Given the description of an element on the screen output the (x, y) to click on. 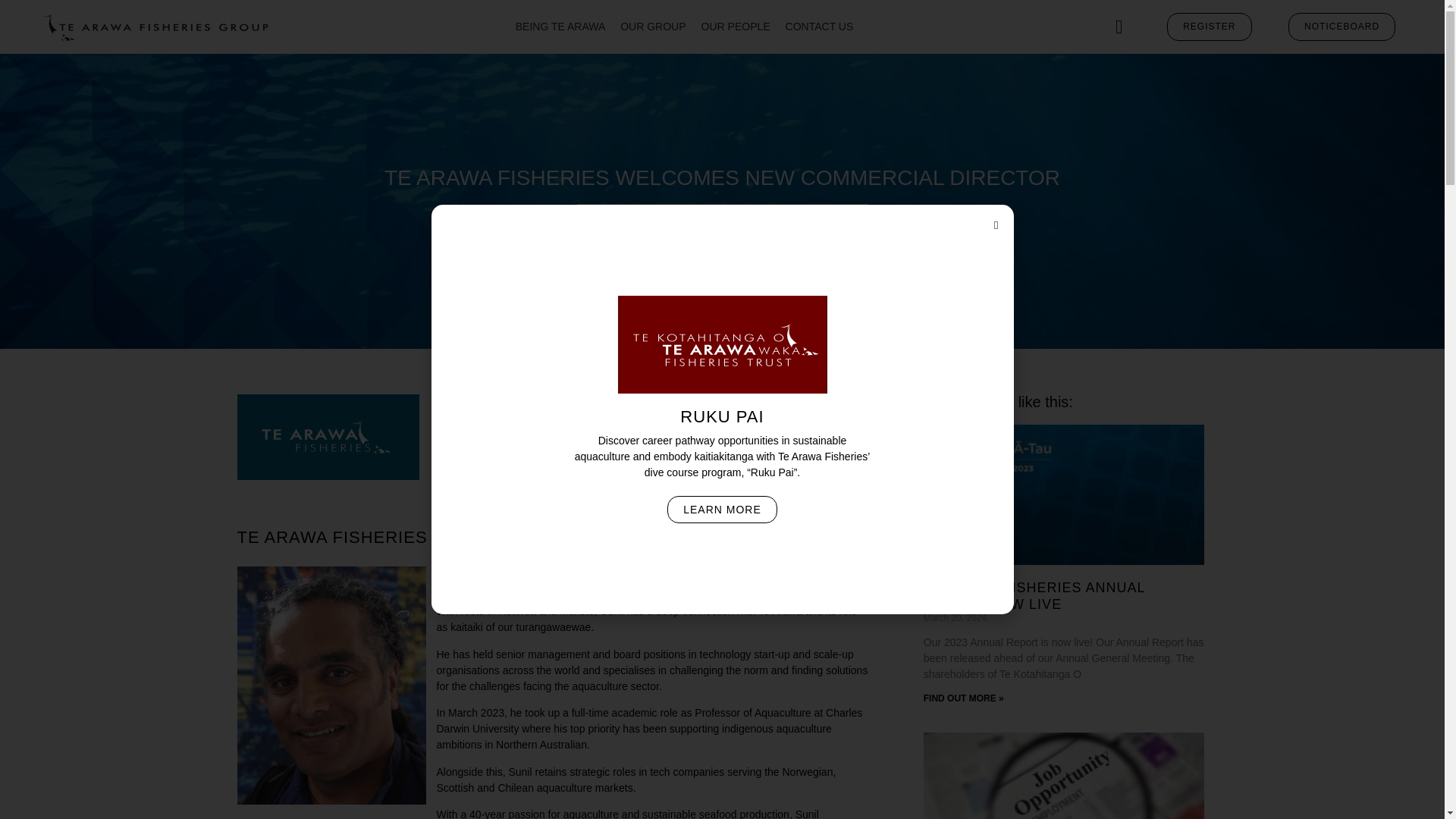
OUR PEOPLE (735, 26)
OUR GROUP (651, 26)
CONTACT US (819, 26)
BEING TE ARAWA (561, 26)
